Given the description of an element on the screen output the (x, y) to click on. 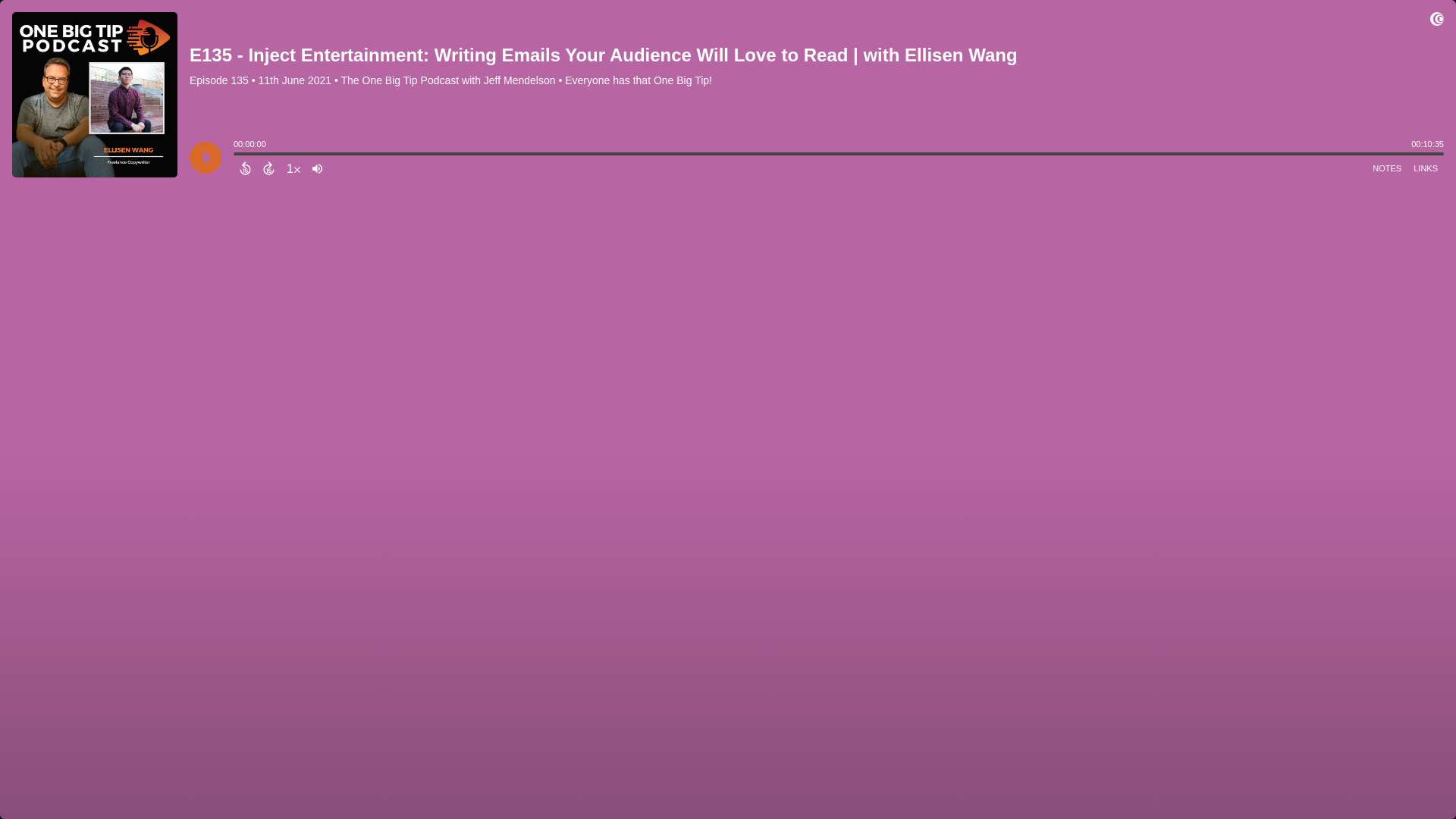
NOTES (1387, 167)
1 (293, 167)
LINKS (1425, 167)
